Given the description of an element on the screen output the (x, y) to click on. 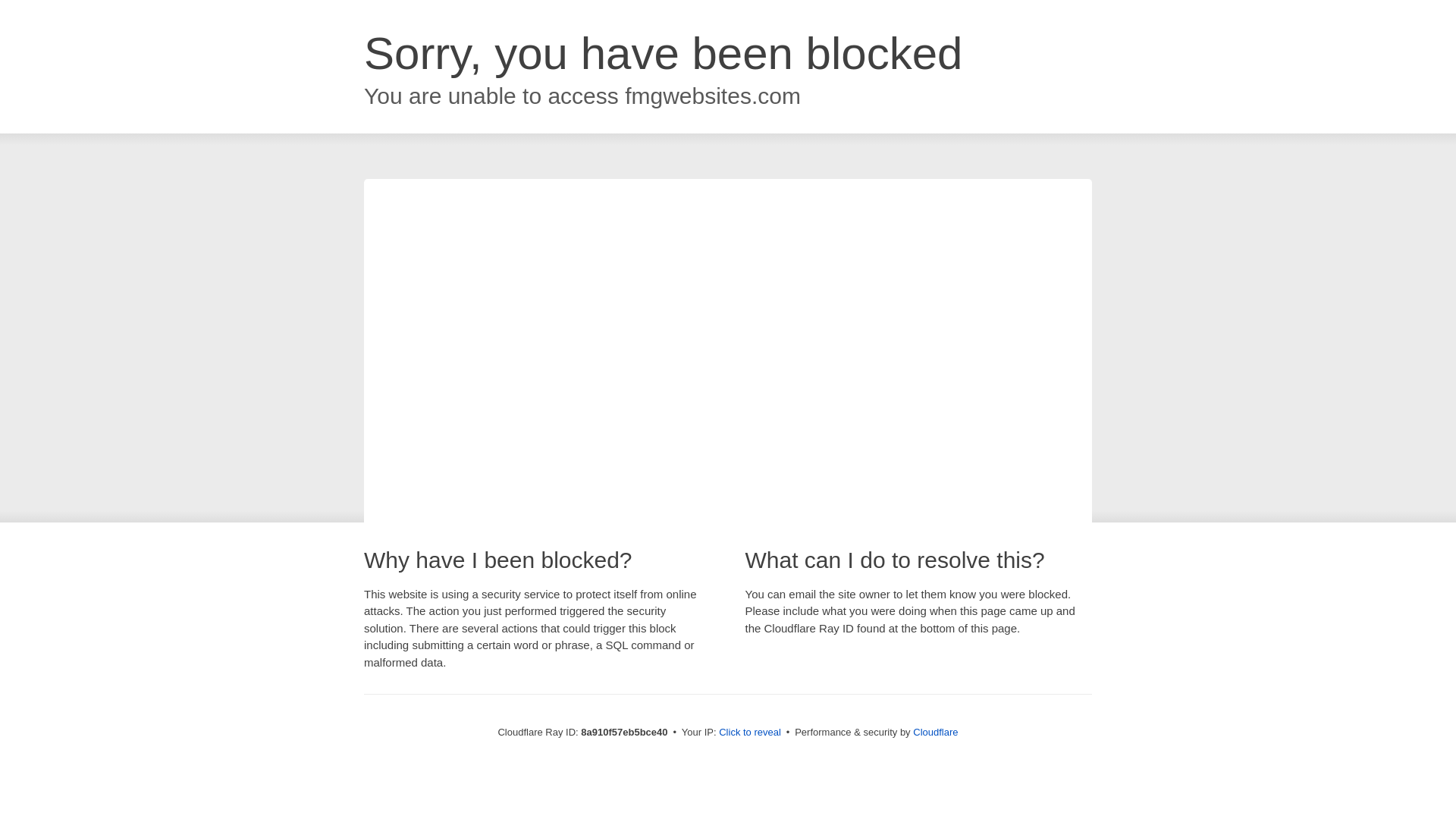
Click to reveal (749, 732)
Cloudflare (935, 731)
